Given the description of an element on the screen output the (x, y) to click on. 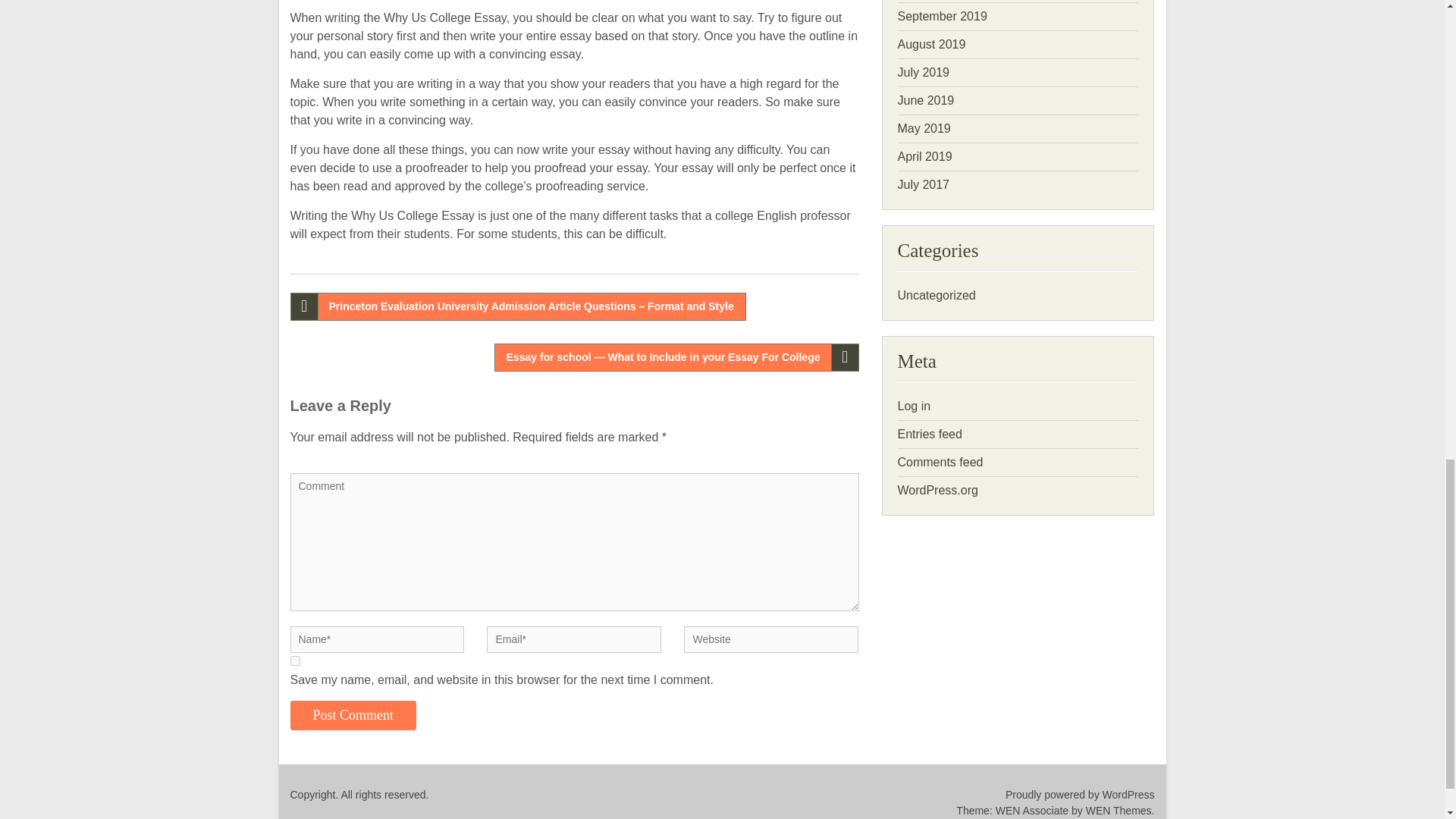
Log in (914, 405)
Post Comment (352, 715)
July 2017 (924, 184)
August 2019 (932, 43)
Comments feed (941, 461)
Post Comment (352, 715)
June 2019 (926, 100)
April 2019 (925, 155)
yes (294, 660)
Proudly powered by WordPress (943, 795)
Uncategorized (936, 295)
July 2019 (924, 72)
Entries feed (930, 433)
May 2019 (924, 128)
September 2019 (942, 15)
